Given the description of an element on the screen output the (x, y) to click on. 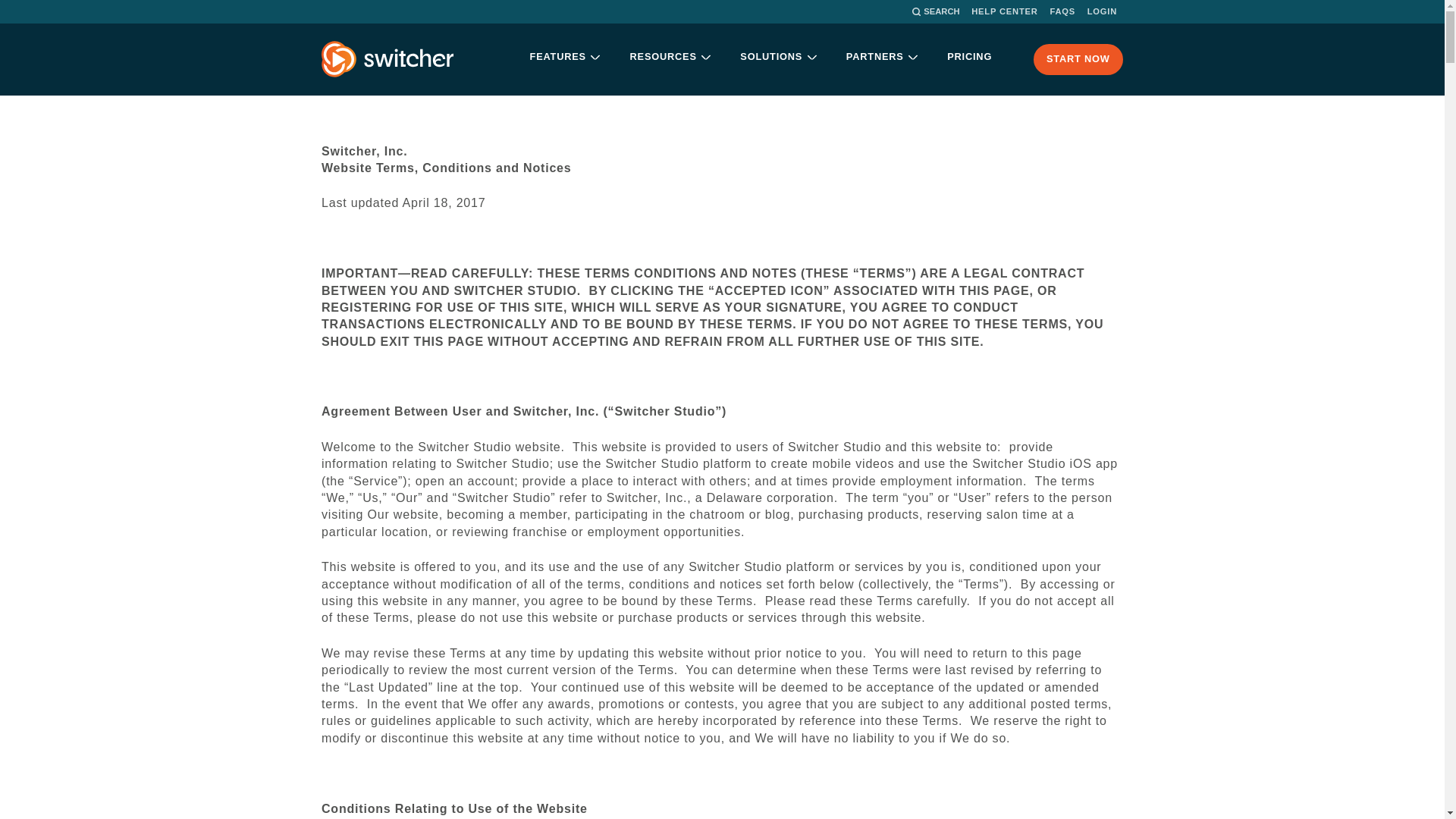
HELP CENTER (1004, 11)
SEARCH (935, 11)
FAQS (1062, 11)
SOLUTIONS (778, 59)
RESOURCES (670, 59)
FEATURES (564, 59)
LOGIN (1101, 11)
Go to home page (387, 58)
